Given the description of an element on the screen output the (x, y) to click on. 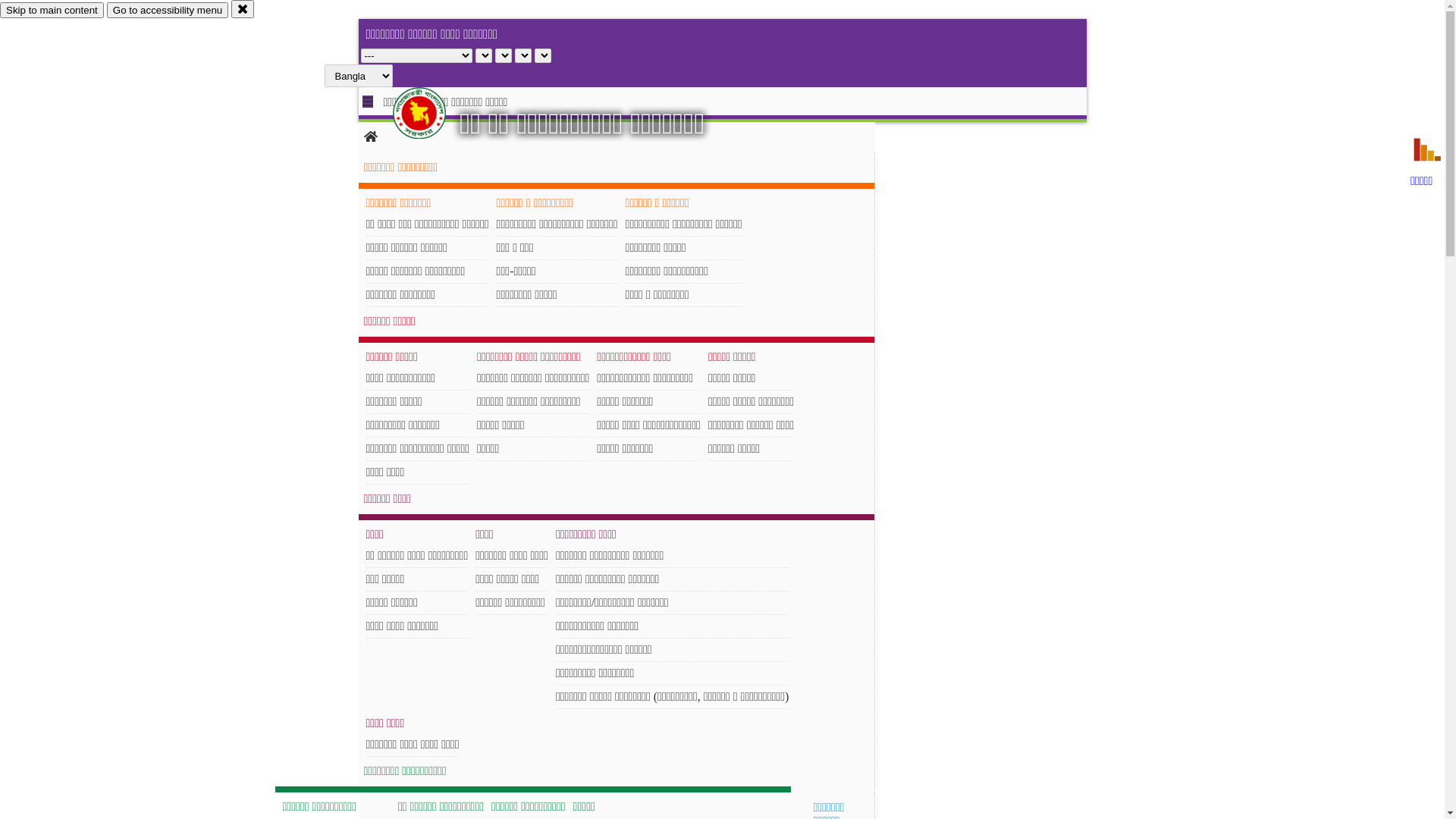
Go to accessibility menu Element type: text (167, 10)
Skip to main content Element type: text (51, 10)
close Element type: hover (242, 9)

                
             Element type: hover (431, 112)
